Given the description of an element on the screen output the (x, y) to click on. 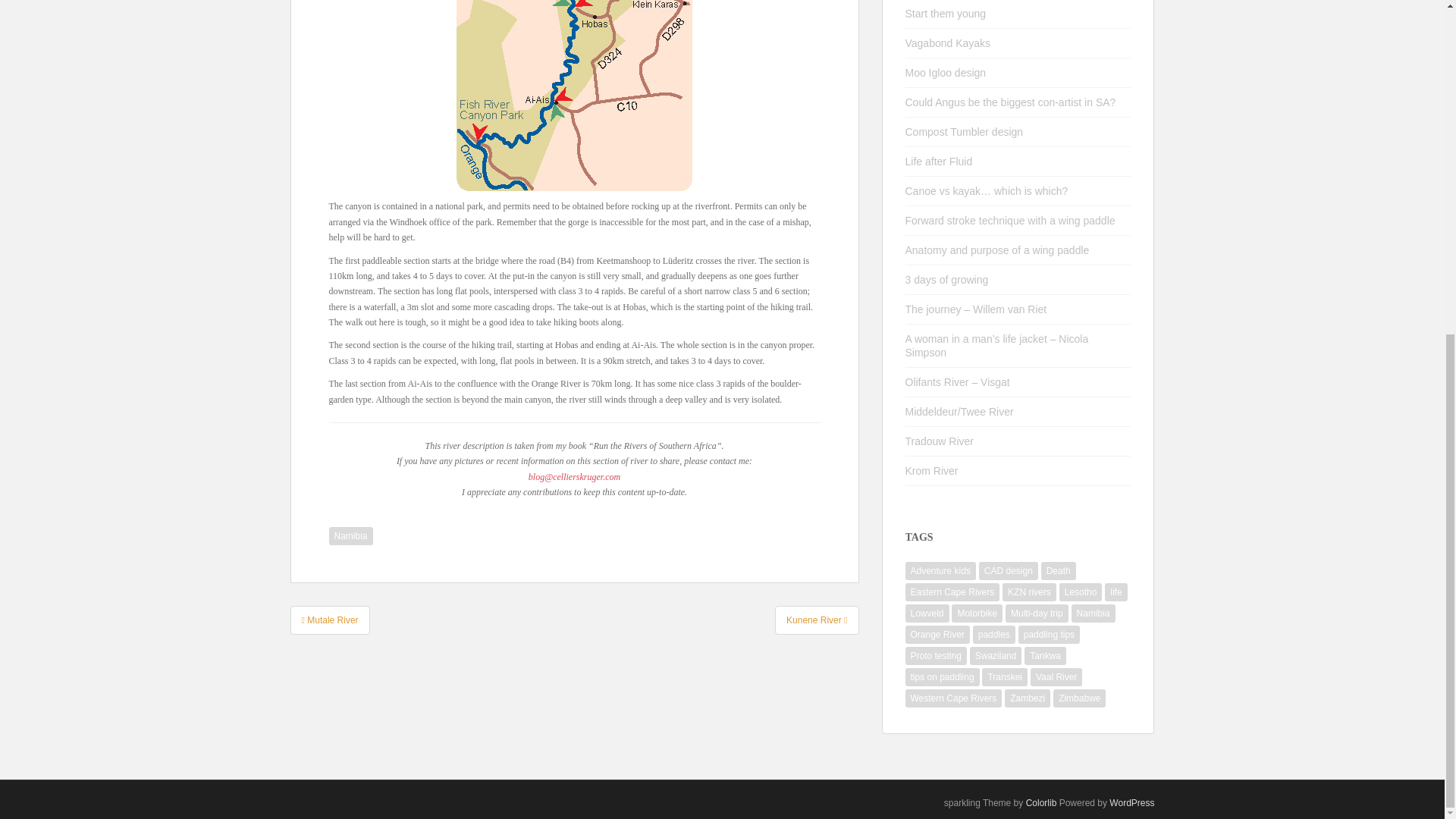
Namibia (350, 536)
Life after Fluid (938, 161)
Compost Tumbler design (964, 132)
Start them young (946, 13)
Kunene River (816, 620)
Mutale River (329, 620)
Forward stroke technique with a wing paddle (1010, 220)
Moo Igloo design (946, 72)
3 days of growing (946, 279)
Could Angus be the biggest con-artist in SA? (1010, 102)
